Given the description of an element on the screen output the (x, y) to click on. 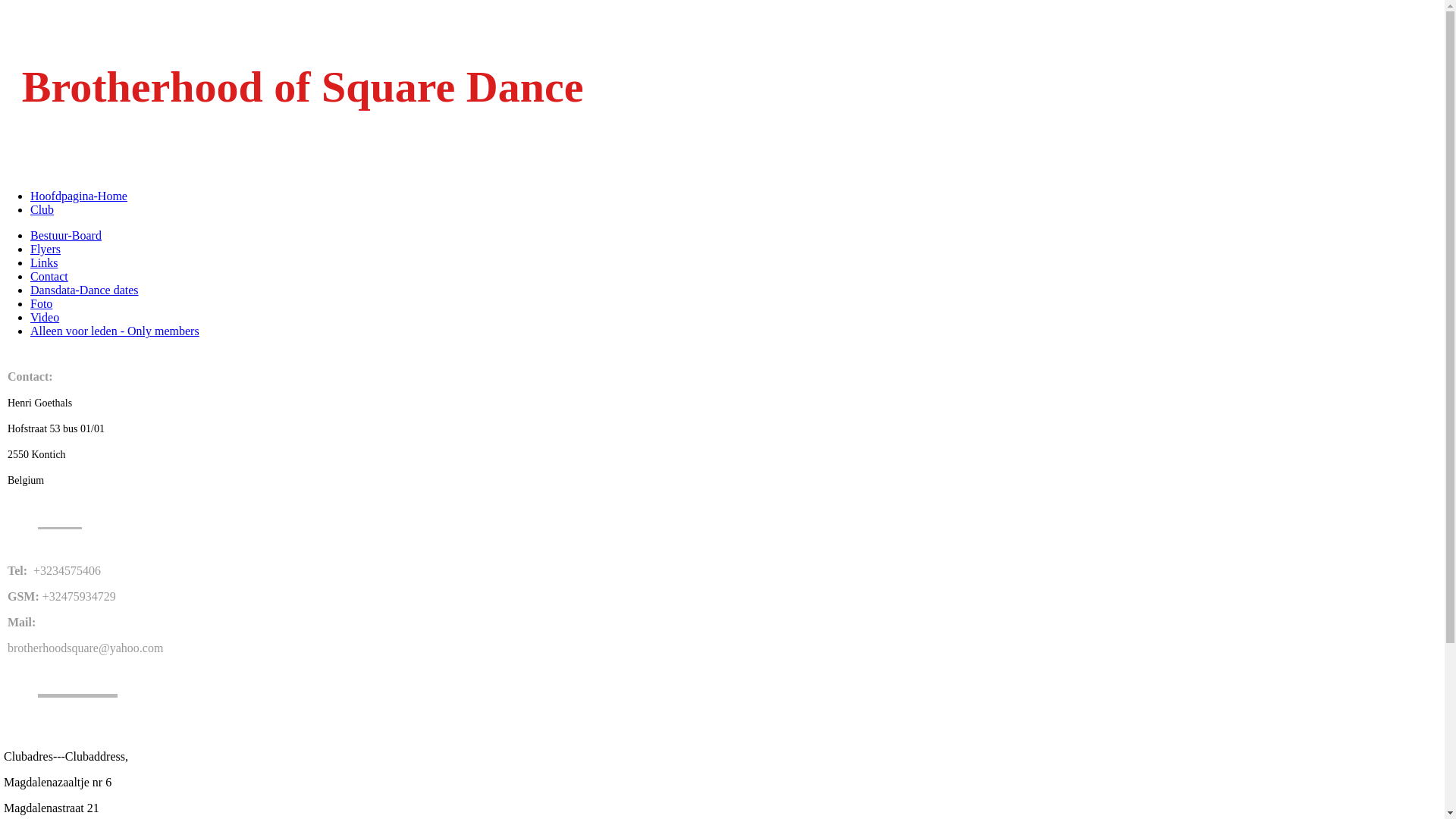
Video Element type: text (44, 316)
Flyers Element type: text (45, 248)
Alleen voor leden - Only members Element type: text (114, 330)
Foto Element type: text (41, 303)
Bestuur-Board Element type: text (65, 235)
Hoofdpagina-Home Element type: text (78, 195)
Dansdata-Dance dates Element type: text (84, 289)
Club Element type: text (41, 209)
Contact Element type: text (49, 275)
Links Element type: text (43, 262)
